Given the description of an element on the screen output the (x, y) to click on. 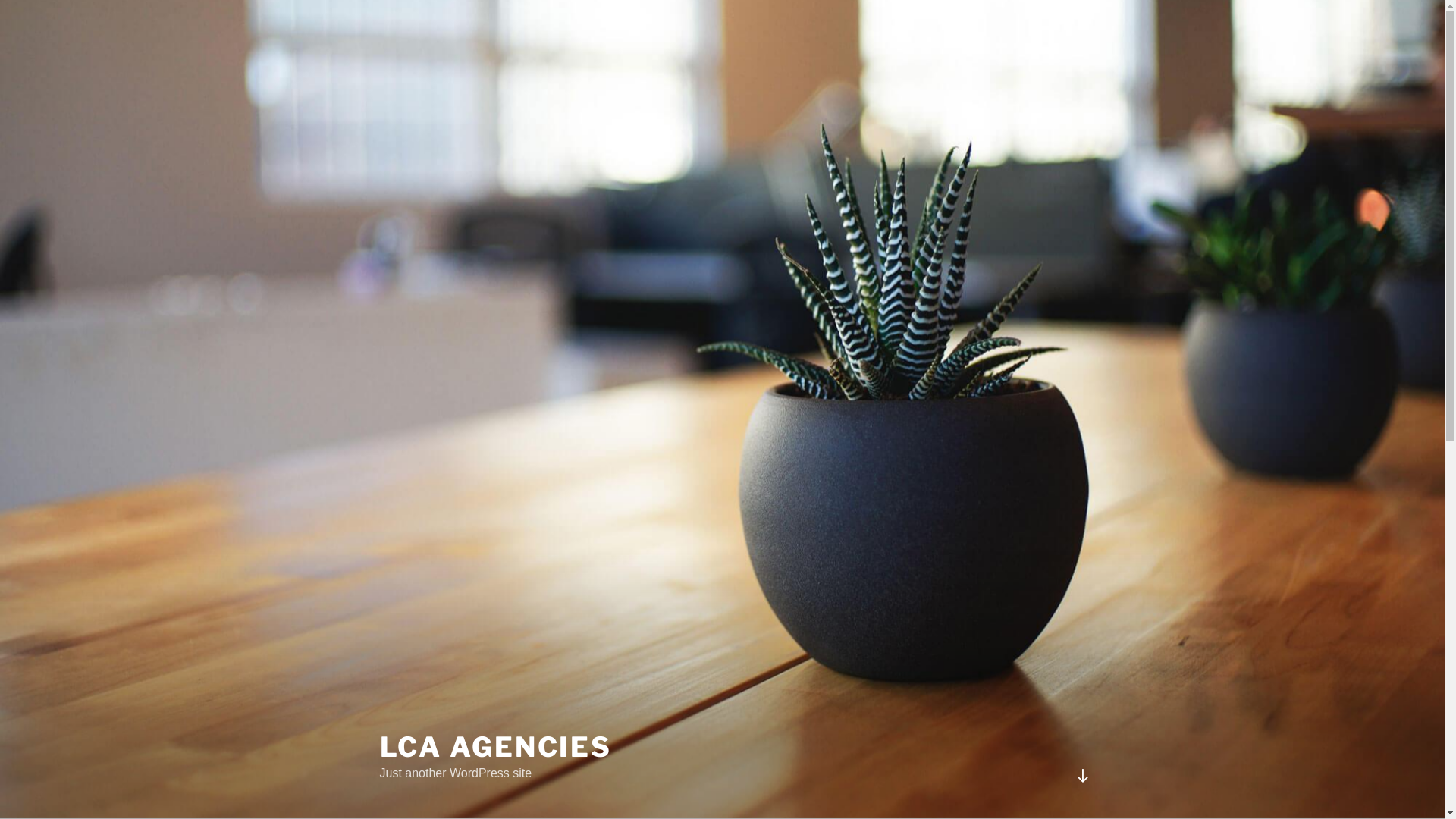
LCA AGENCIES Element type: text (495, 746)
Scroll down to content Element type: text (1082, 775)
